Given the description of an element on the screen output the (x, y) to click on. 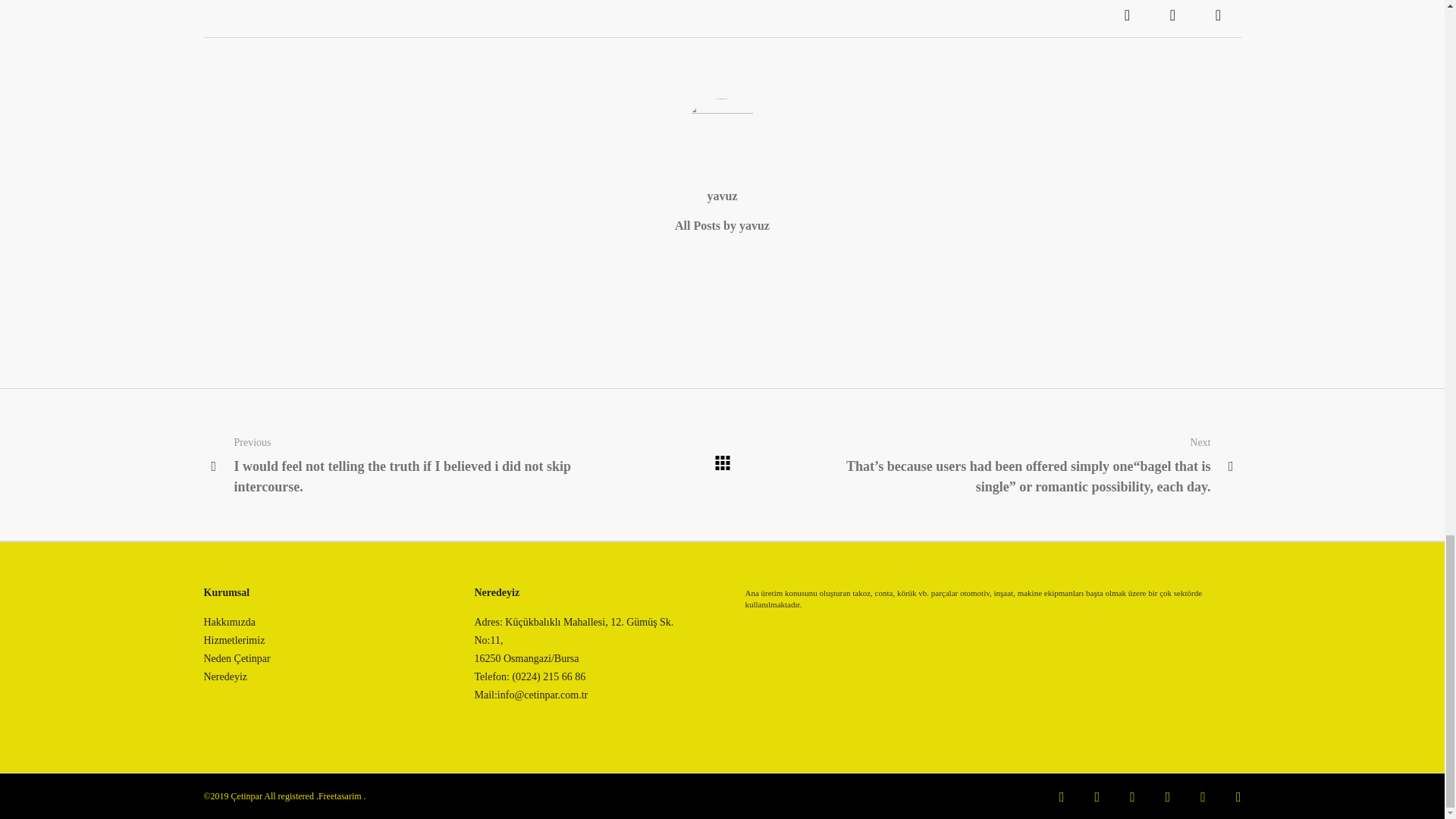
Tweet this. (1172, 18)
yavuz (721, 195)
Hizmetlerimiz (233, 640)
All Posts by yavuz (722, 225)
Freetasarim (339, 796)
Pin this. (1217, 18)
Neredeyiz (225, 676)
Share this. (1126, 18)
